Given the description of an element on the screen output the (x, y) to click on. 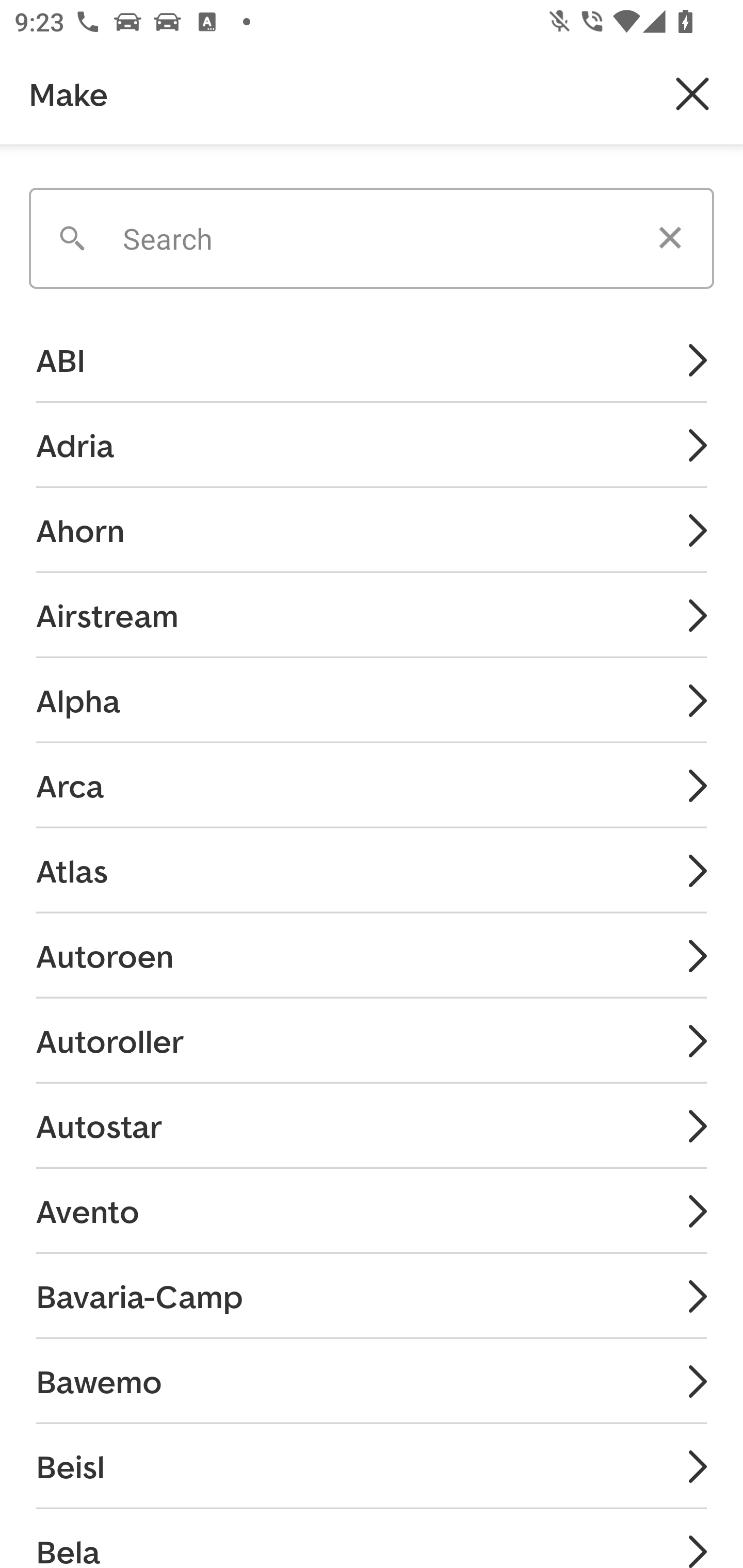
close (692, 93)
search icon clear icon Search (371, 231)
clear icon (670, 238)
ABI right arrow (371, 360)
Adria right arrow (371, 444)
Ahorn right arrow (371, 529)
Airstream right arrow (371, 614)
Alpha right arrow (371, 699)
Arca right arrow (371, 785)
Atlas right arrow (371, 869)
Autoroen right arrow (371, 955)
Autoroller right arrow (371, 1040)
Autostar right arrow (371, 1125)
Avento right arrow (371, 1210)
Bavaria-Camp right arrow (371, 1295)
Bawemo right arrow (371, 1381)
Beisl right arrow (371, 1465)
Bela right arrow (371, 1538)
